Given the description of an element on the screen output the (x, y) to click on. 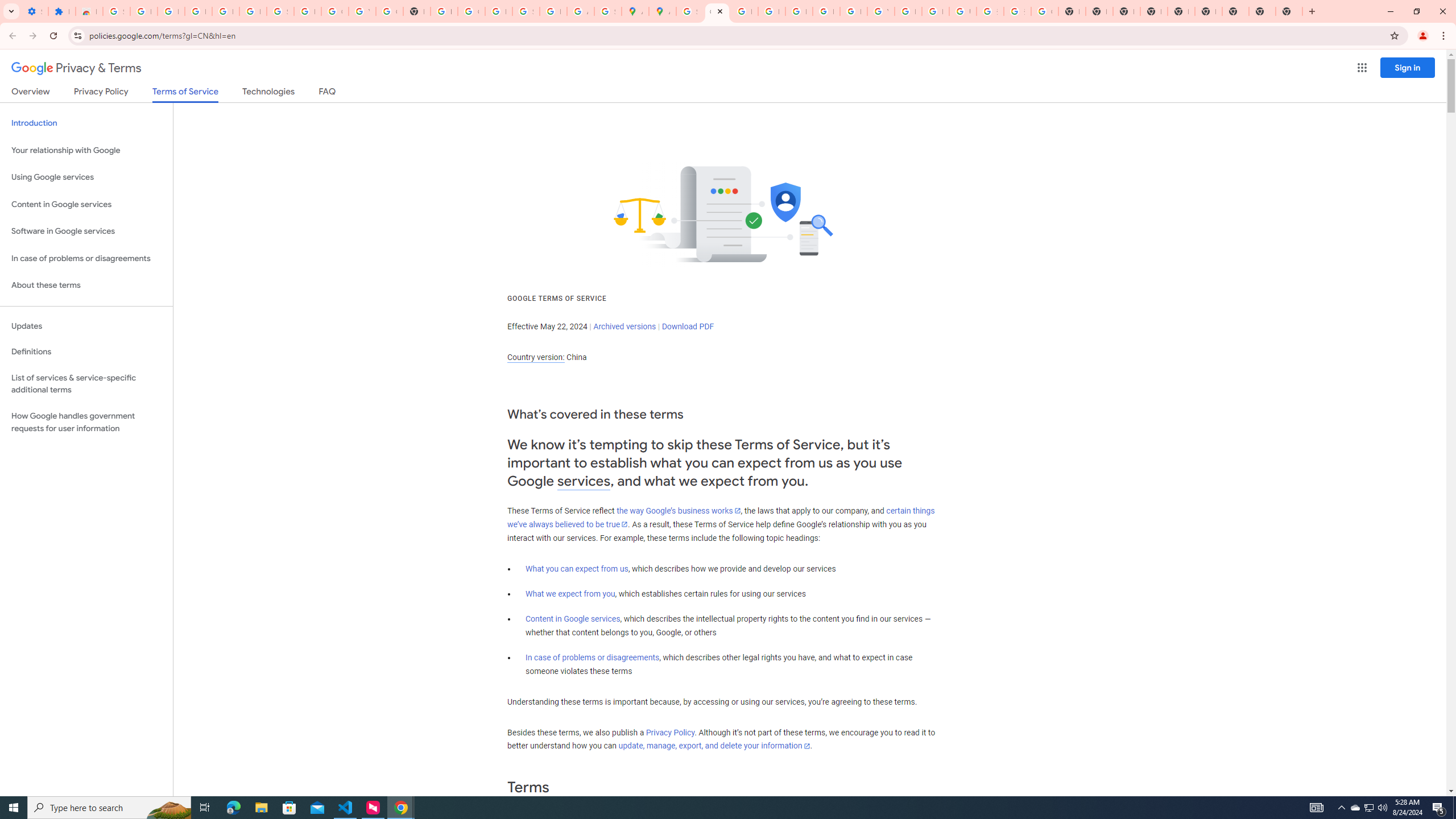
YouTube (362, 11)
Download PDF (687, 326)
https://scholar.google.com/ (444, 11)
Using Google services (86, 176)
Settings - On startup (34, 11)
List of services & service-specific additional terms (86, 383)
